Given the description of an element on the screen output the (x, y) to click on. 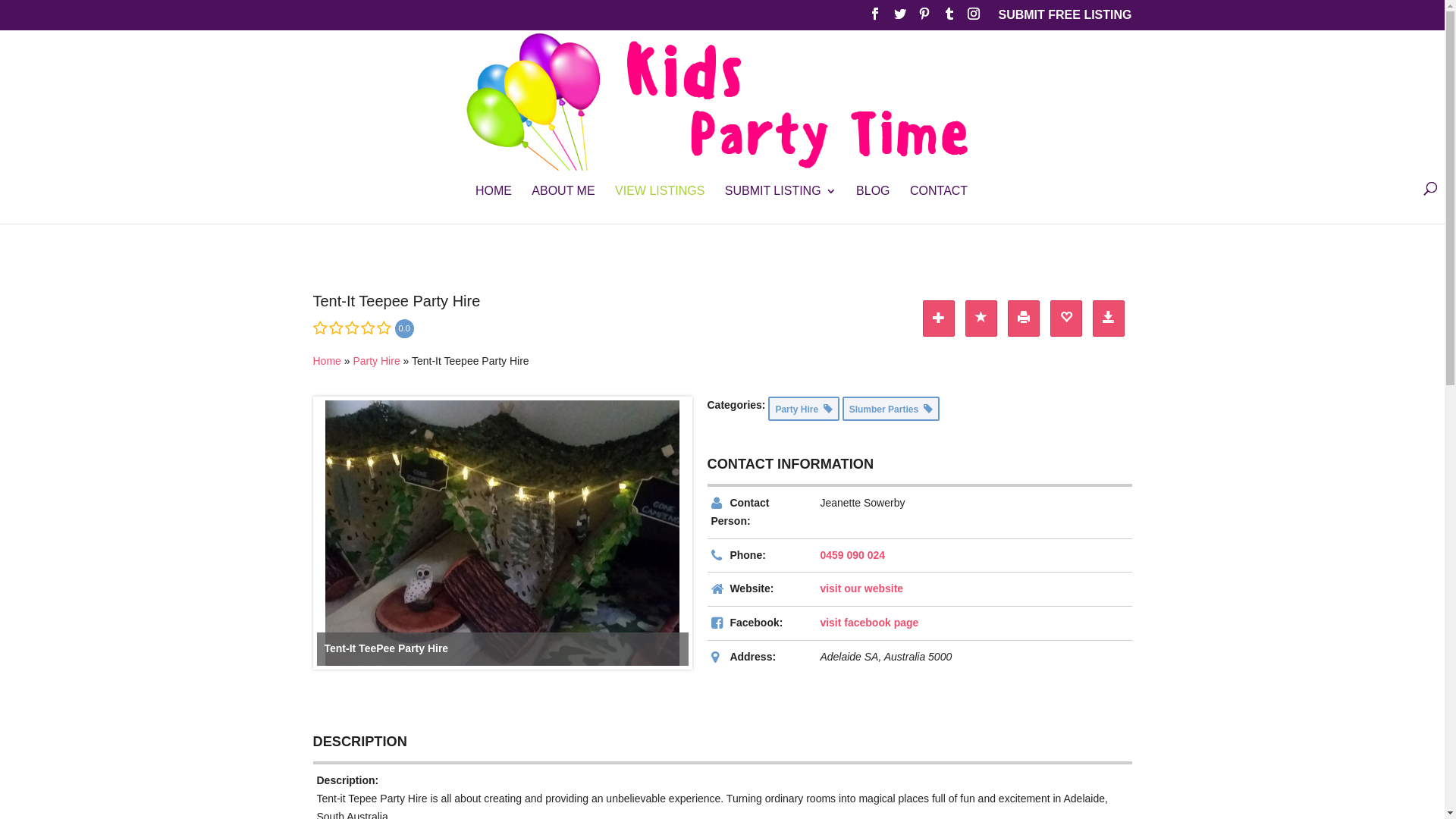
Slumber Parties   Element type: text (890, 408)
Home Element type: text (326, 360)
visit our website Element type: text (861, 588)
VIEW LISTINGS Element type: text (659, 204)
Party Hire   Element type: text (803, 408)
HOME Element type: text (493, 204)
0459 090 024 Element type: text (851, 555)
visit facebook page Element type: text (868, 622)
BLOG Element type: text (872, 204)
SUBMIT LISTING Element type: text (780, 204)
Party Hire Element type: text (375, 360)
SUBMIT FREE LISTING Element type: text (1064, 19)
CONTACT Element type: text (938, 204)
ABOUT ME Element type: text (562, 204)
